Given the description of an element on the screen output the (x, y) to click on. 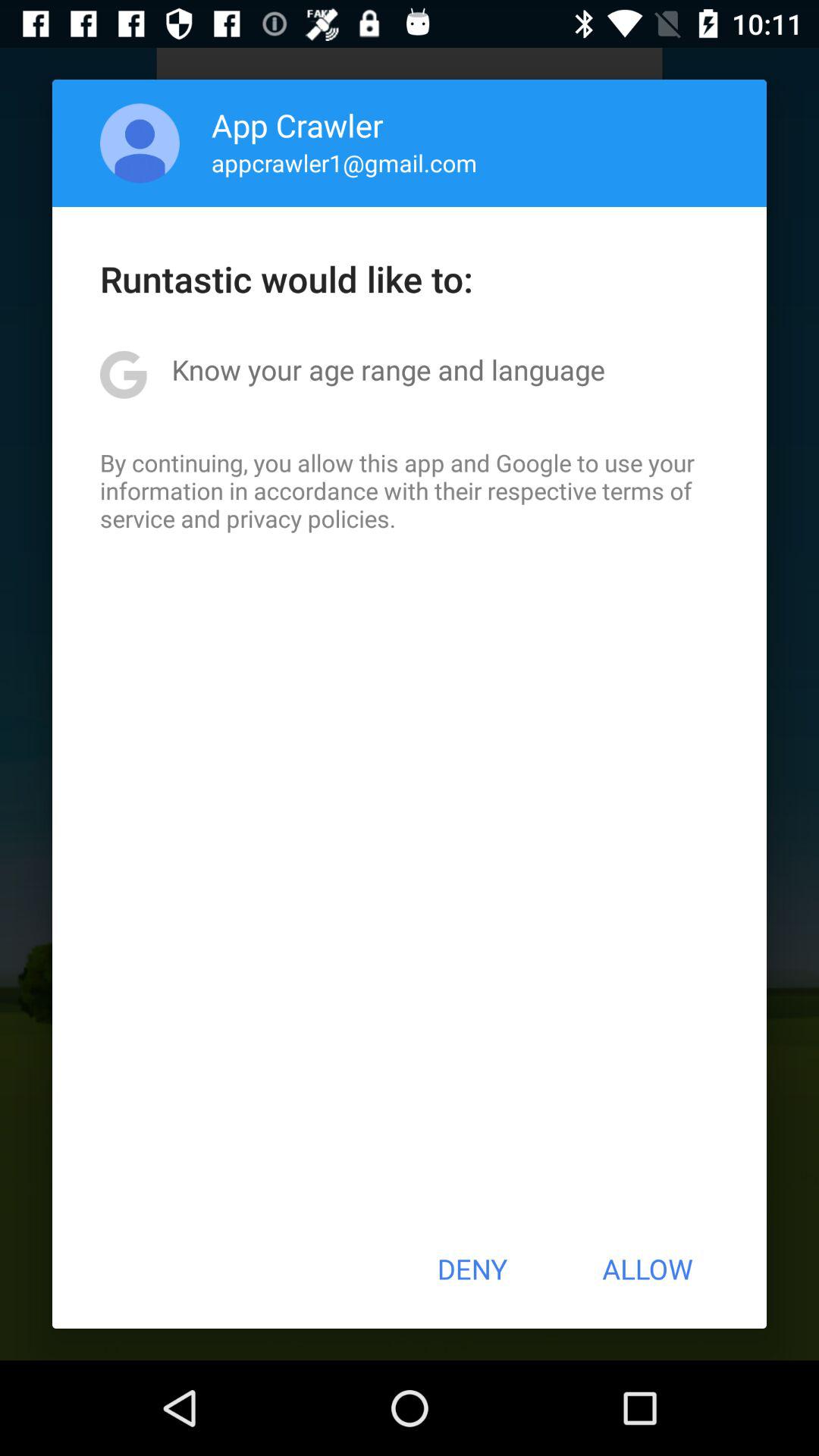
launch the icon below runtastic would like icon (388, 369)
